Given the description of an element on the screen output the (x, y) to click on. 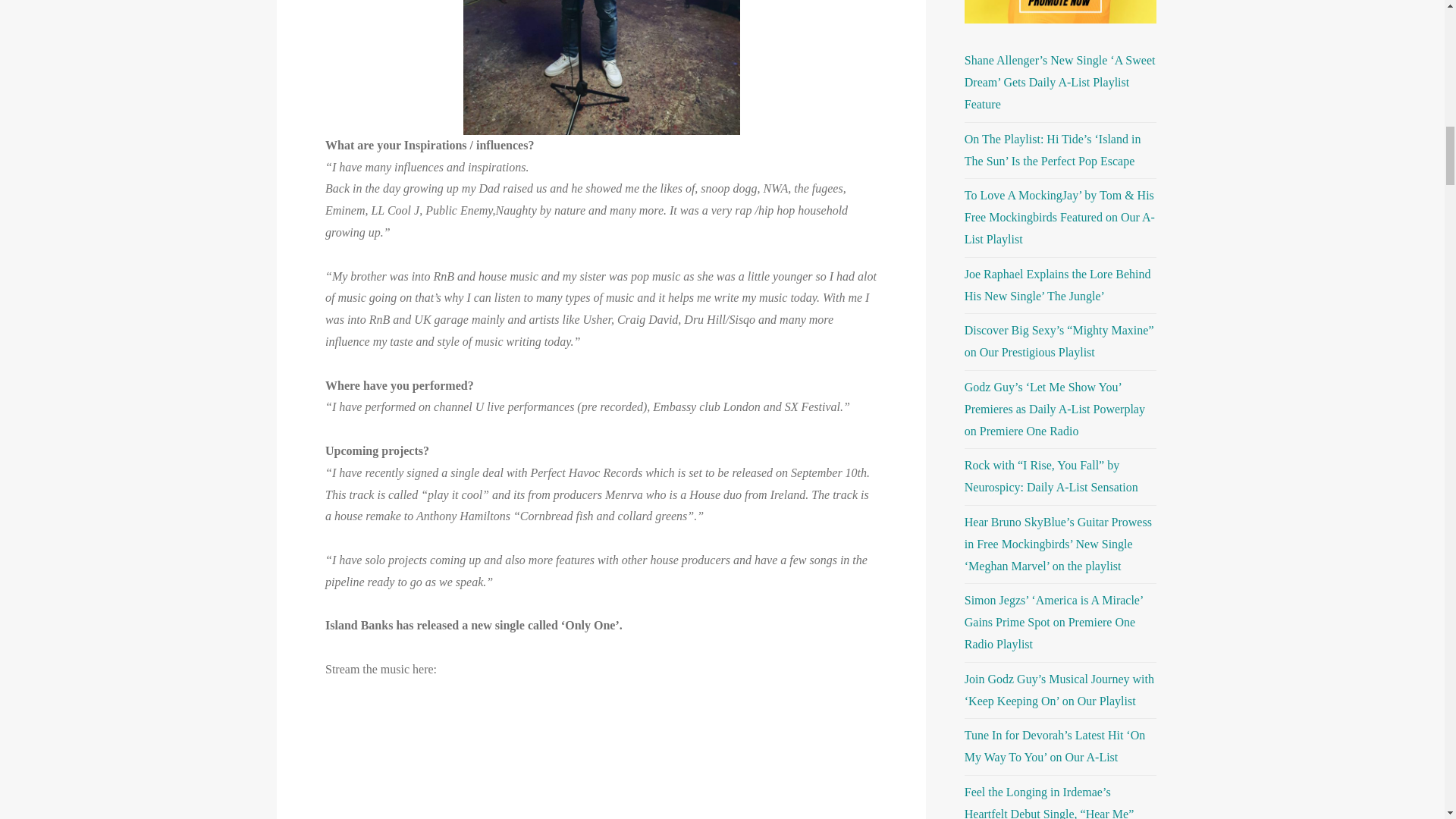
Spotify Embed: Only One (600, 755)
